Given the description of an element on the screen output the (x, y) to click on. 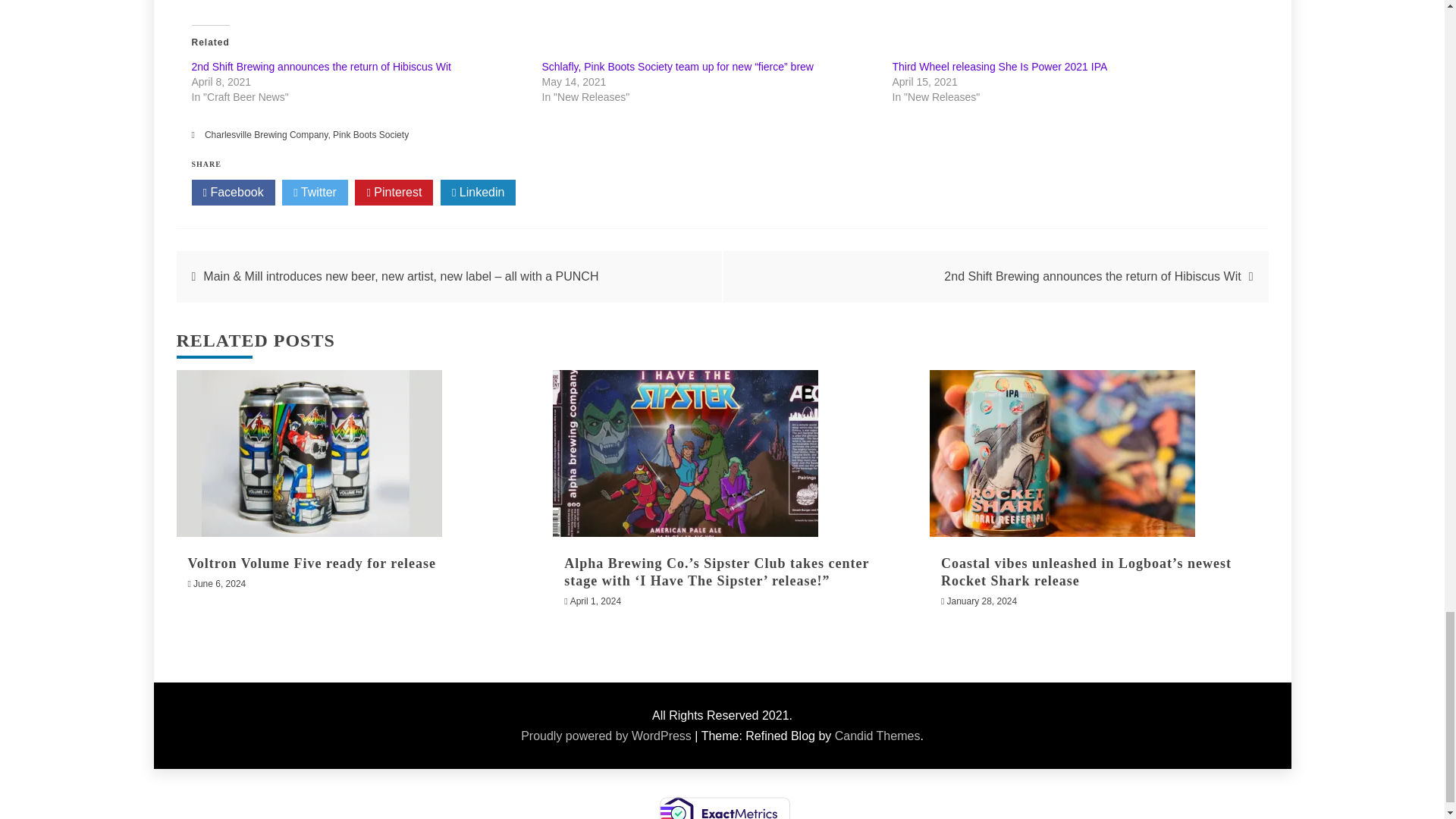
Charlesville Brewing Company (267, 134)
Facebook (232, 192)
Twitter (314, 192)
Pink Boots Society (371, 134)
2nd Shift Brewing announces the return of Hibiscus Wit (319, 66)
Third Wheel releasing She Is Power 2021 IPA (998, 66)
2nd Shift Brewing announces the return of Hibiscus Wit (319, 66)
Third Wheel releasing She Is Power 2021 IPA (998, 66)
